Given the description of an element on the screen output the (x, y) to click on. 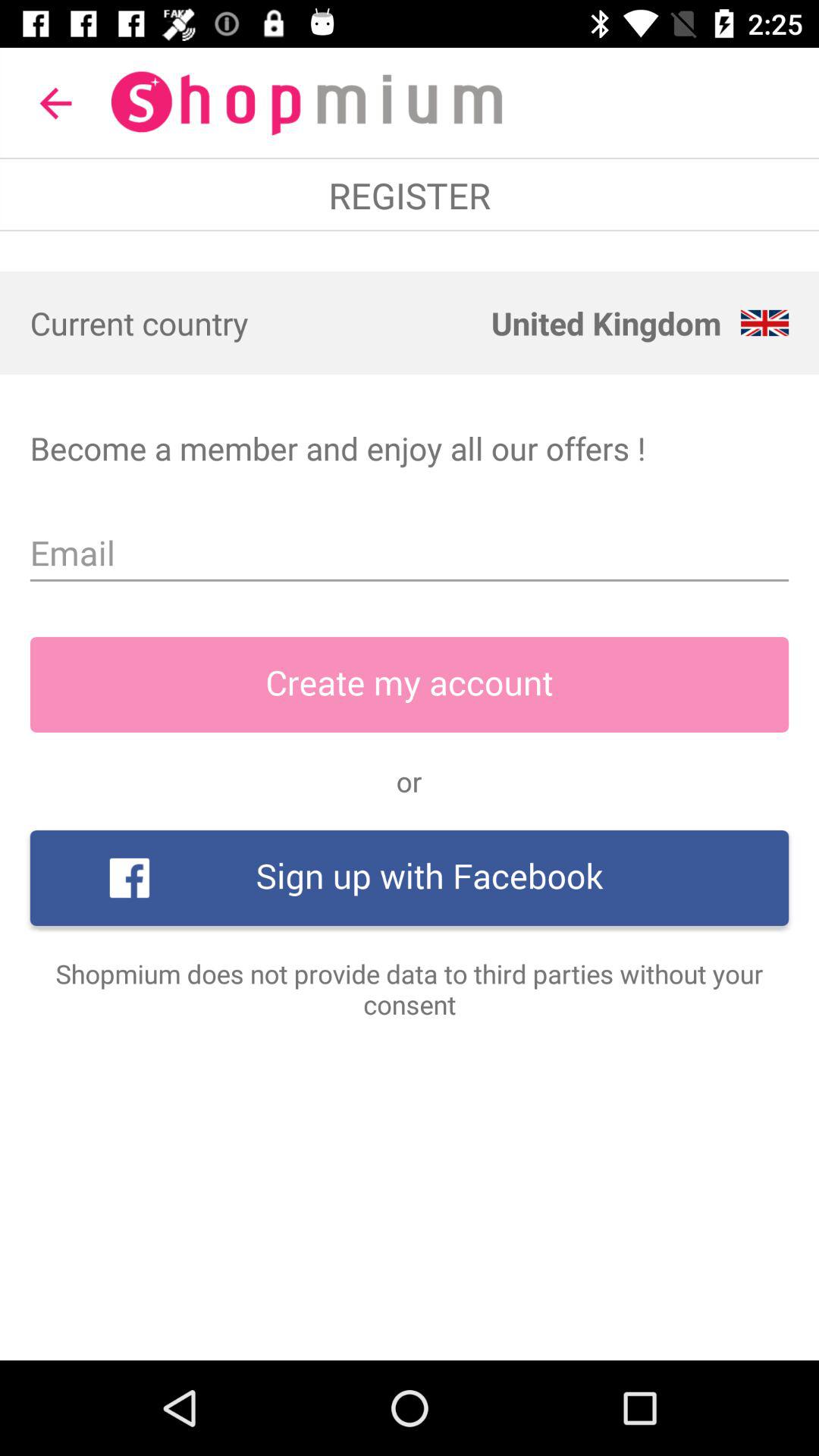
launch item below the or icon (409, 877)
